Given the description of an element on the screen output the (x, y) to click on. 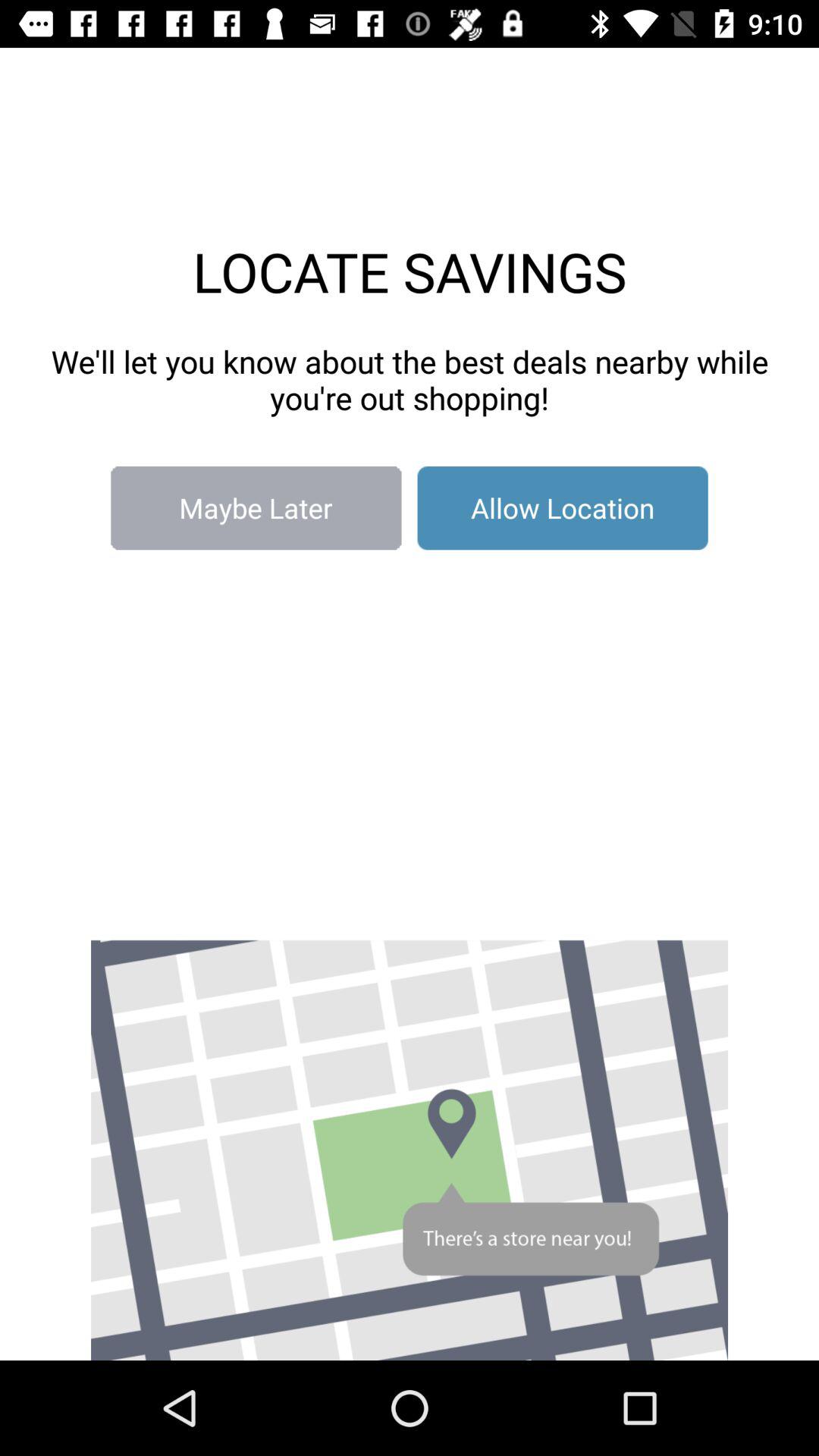
choose allow location (562, 507)
